Given the description of an element on the screen output the (x, y) to click on. 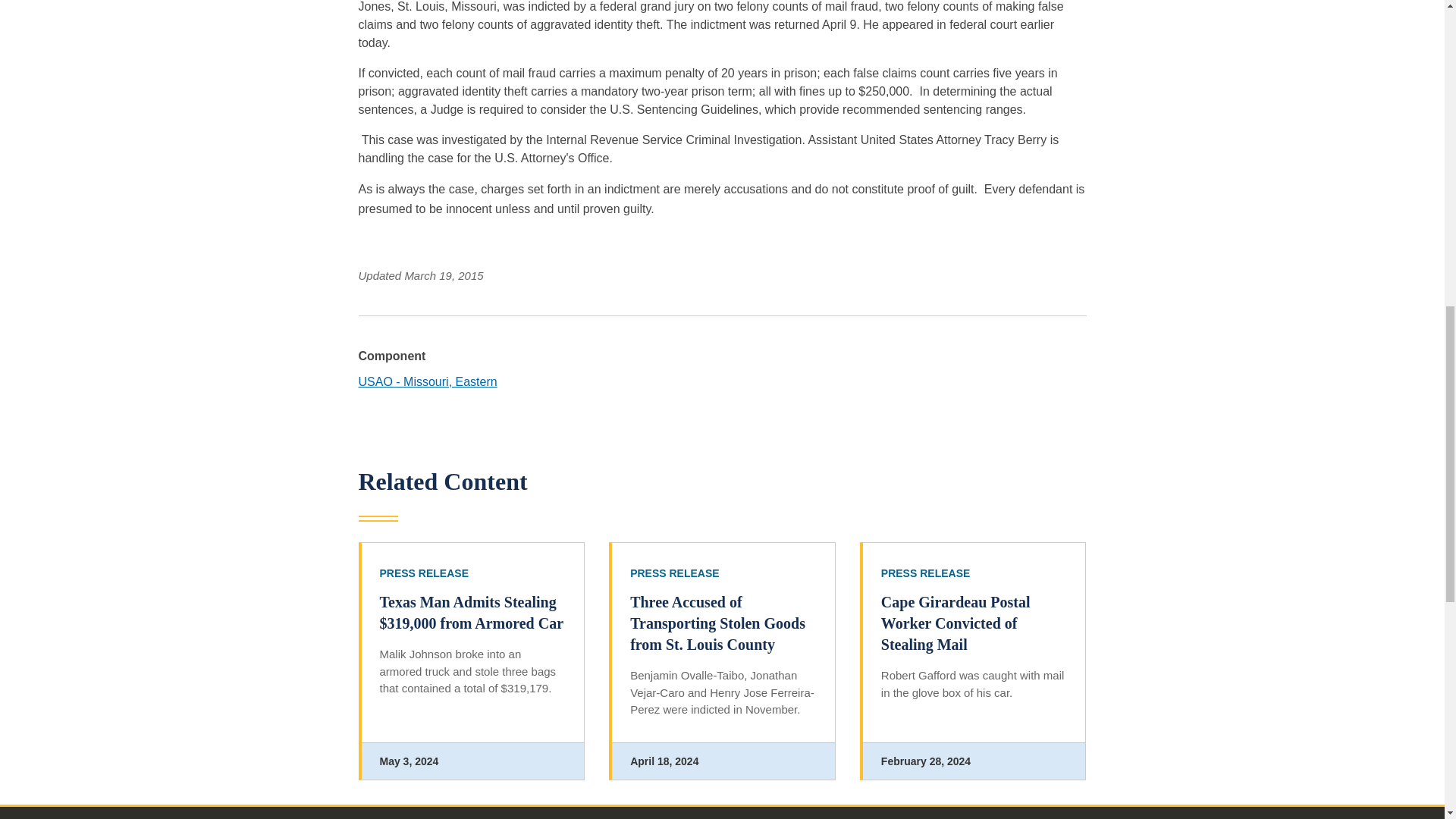
USAO - Missouri, Eastern (427, 381)
